Given the description of an element on the screen output the (x, y) to click on. 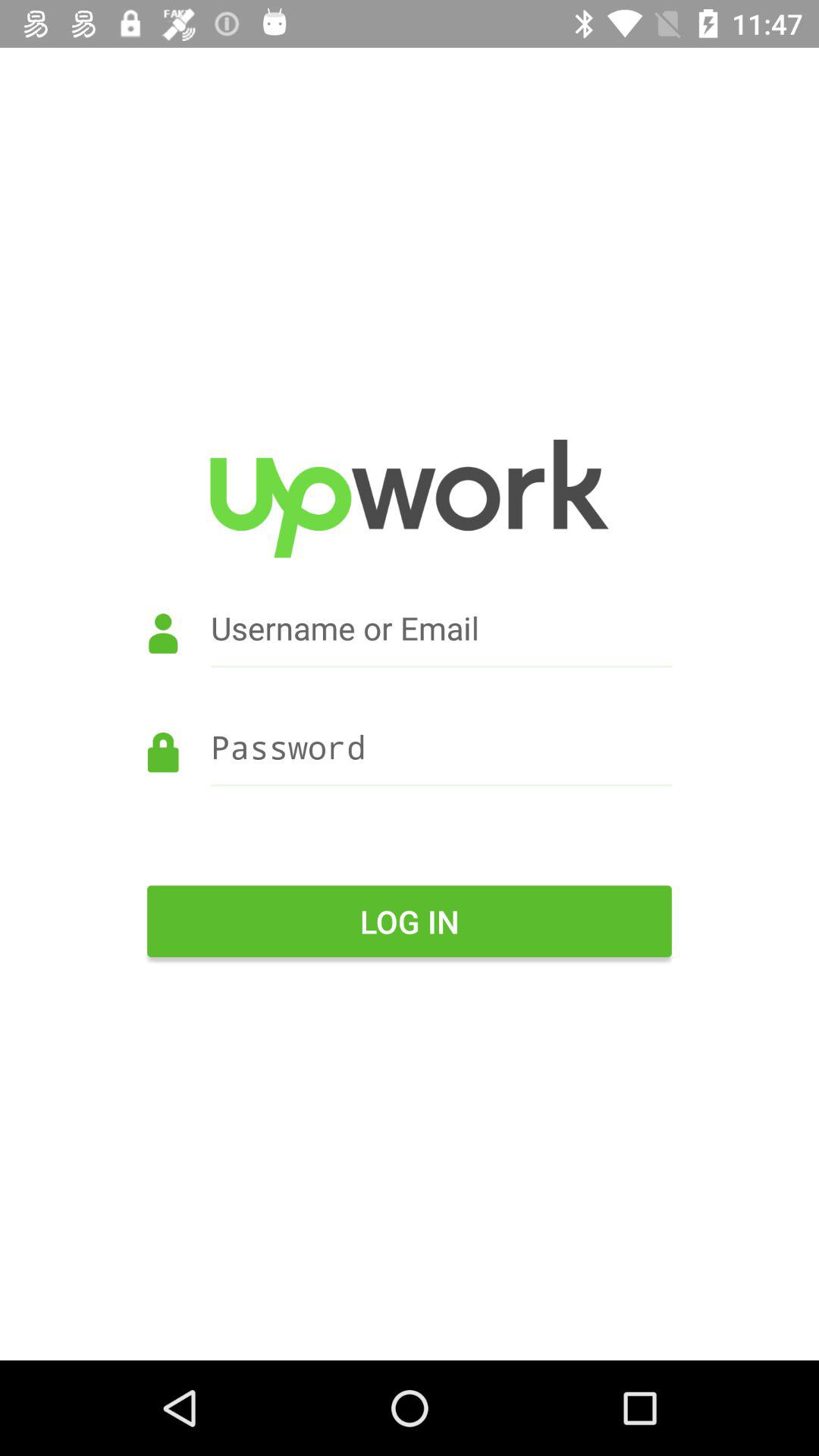
enter login name (409, 649)
